Given the description of an element on the screen output the (x, y) to click on. 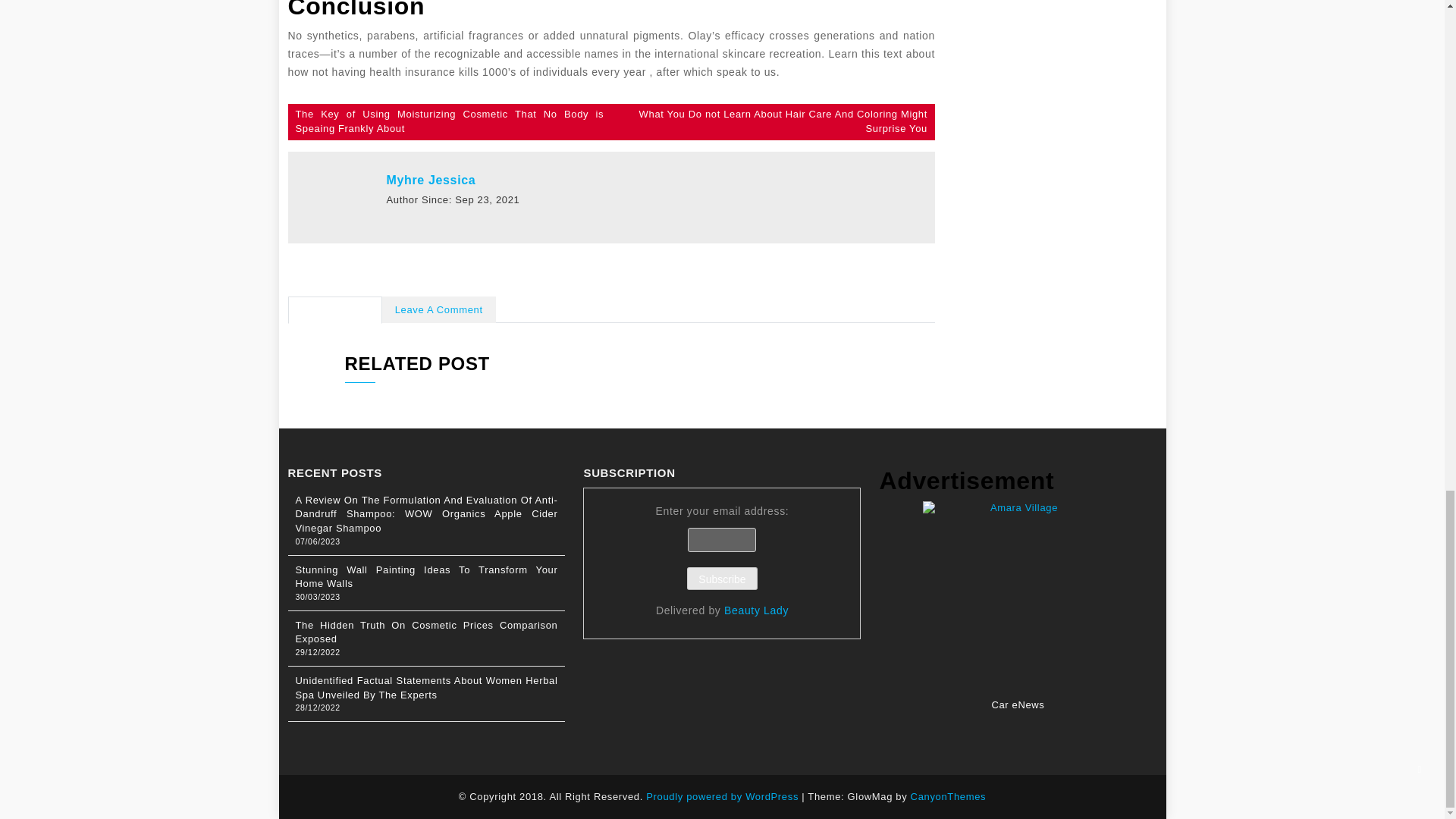
Myhre Jessica (431, 179)
No Comments (334, 310)
Leave A Comment (438, 310)
Subscribe (722, 578)
Amara Village (1017, 596)
Winter View Estate (1054, 138)
Posts by Myhre Jessica (431, 179)
